Given the description of an element on the screen output the (x, y) to click on. 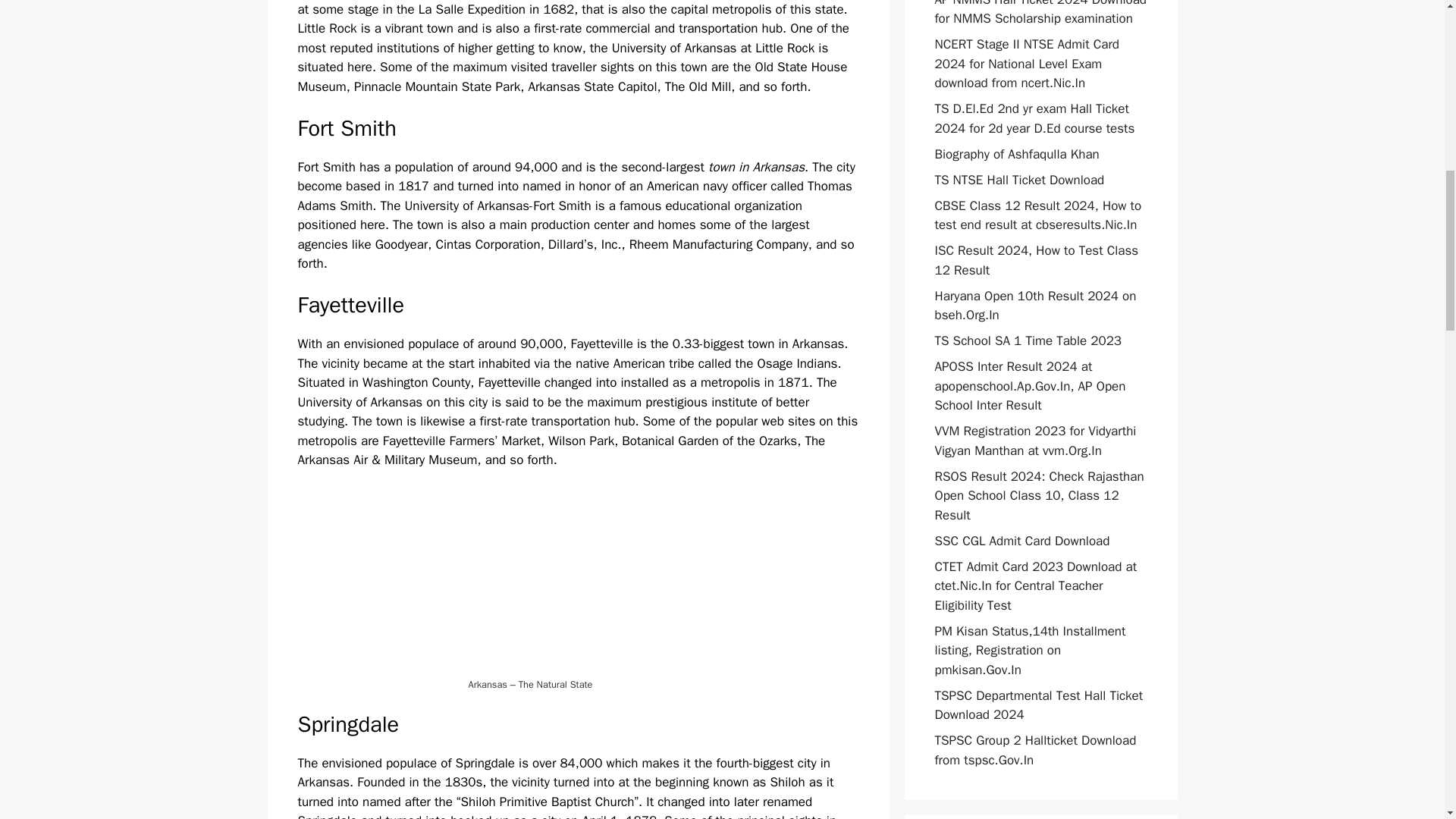
TS NTSE Hall Ticket Download (1018, 179)
TS School SA 1 Time Table 2023 (1027, 340)
Haryana Open 10th Result 2024 on bseh.Org.In (1034, 305)
Biography of Ashfaqulla Khan (1016, 153)
ISC Result 2024, How to Test Class 12 Result (1036, 260)
